Given the description of an element on the screen output the (x, y) to click on. 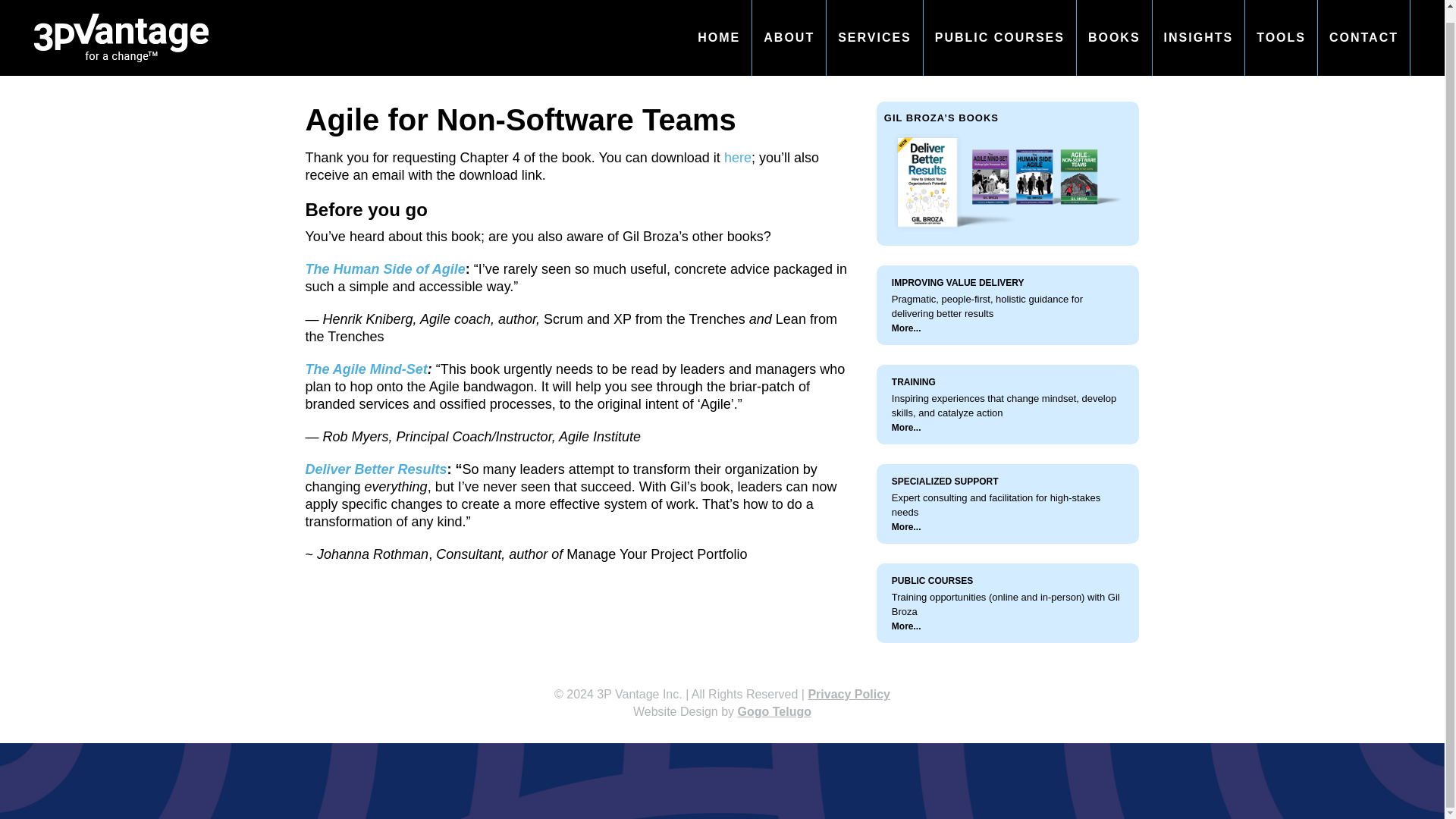
SERVICES (875, 31)
HOME (718, 31)
More... (906, 427)
The Human Side of Agile (384, 268)
Website Design by Gogo Telugo (721, 711)
TOOLS (1280, 31)
More... (906, 327)
More... (906, 625)
TRAINING (913, 381)
PUBLIC COURSES (999, 31)
ABOUT (788, 31)
Privacy Policy (848, 694)
IMPROVING VALUE DELIVERY (958, 282)
The Agile Mind-Set (365, 368)
SPECIALIZED SUPPORT (944, 480)
